Given the description of an element on the screen output the (x, y) to click on. 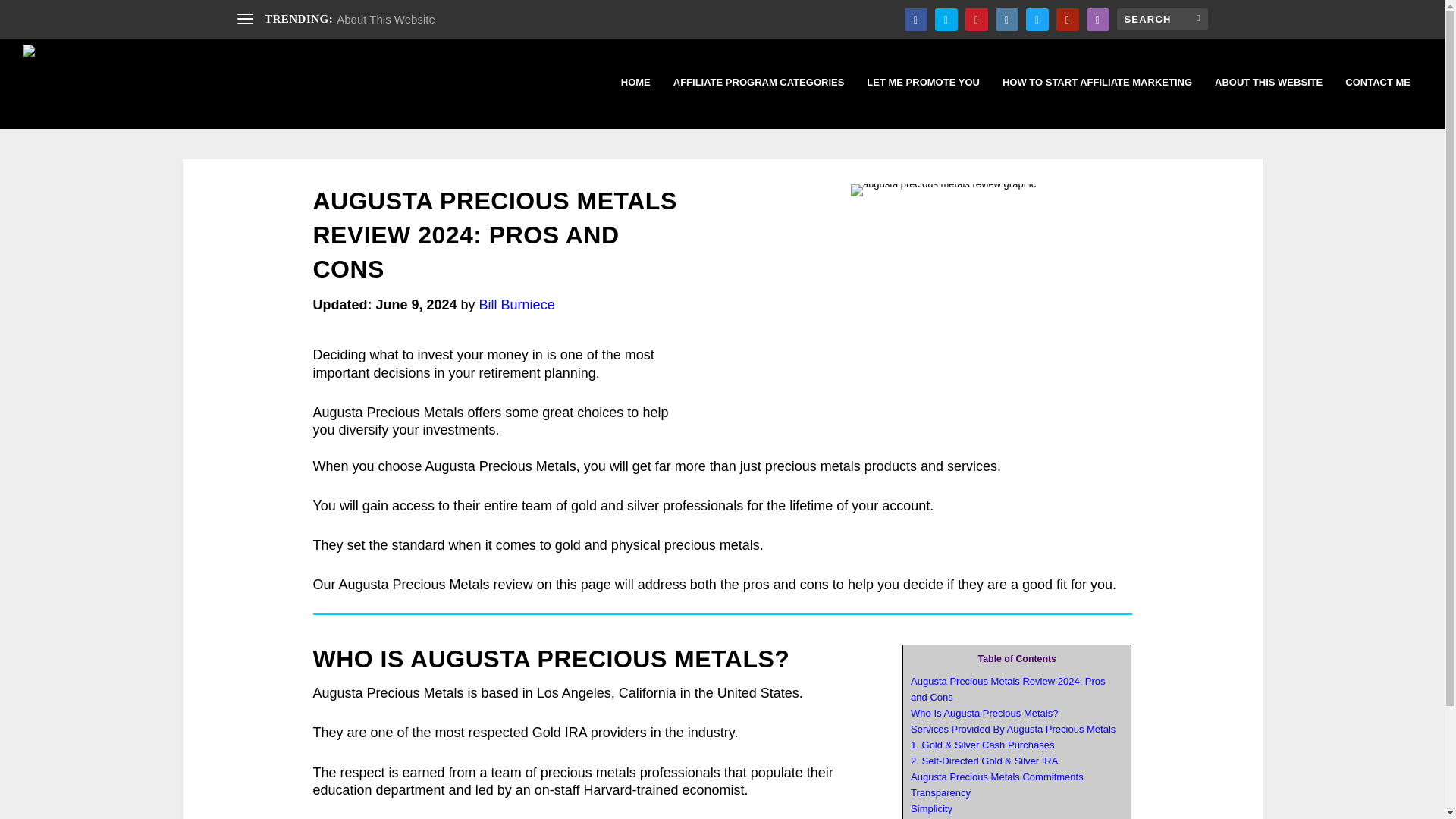
Search for: (1161, 19)
Augusta Precious Metals Review 2024: Pros and Cons (1008, 688)
HOME (635, 102)
Who Is Augusta Precious Metals? (984, 713)
Bill Burniece (516, 304)
AFFILIATE PROGRAM CATEGORIES (758, 102)
HOW TO START AFFILIATE MARKETING (1097, 102)
Transparency (941, 792)
About This Website (385, 19)
Augusta Precious Metals Commitments (997, 776)
LET ME PROMOTE YOU (922, 102)
Augusta-Precious-Metals-Review (942, 190)
Simplicity (931, 808)
ABOUT THIS WEBSITE (1268, 102)
Services Provided By Augusta Precious Metals (1013, 728)
